Given the description of an element on the screen output the (x, y) to click on. 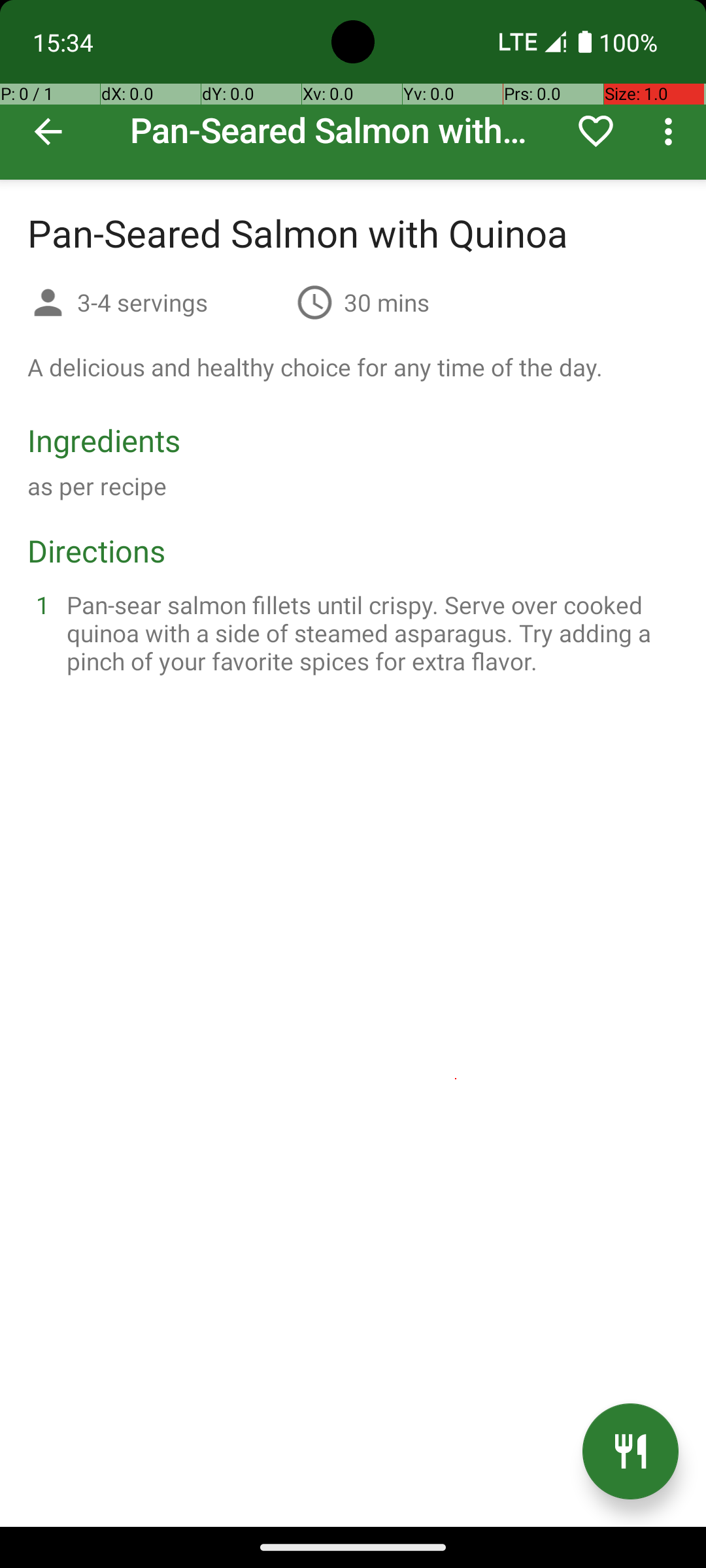
Pan-sear salmon fillets until crispy. Serve over cooked quinoa with a side of steamed asparagus. Try adding a pinch of your favorite spices for extra flavor. Element type: android.widget.TextView (368, 632)
